Given the description of an element on the screen output the (x, y) to click on. 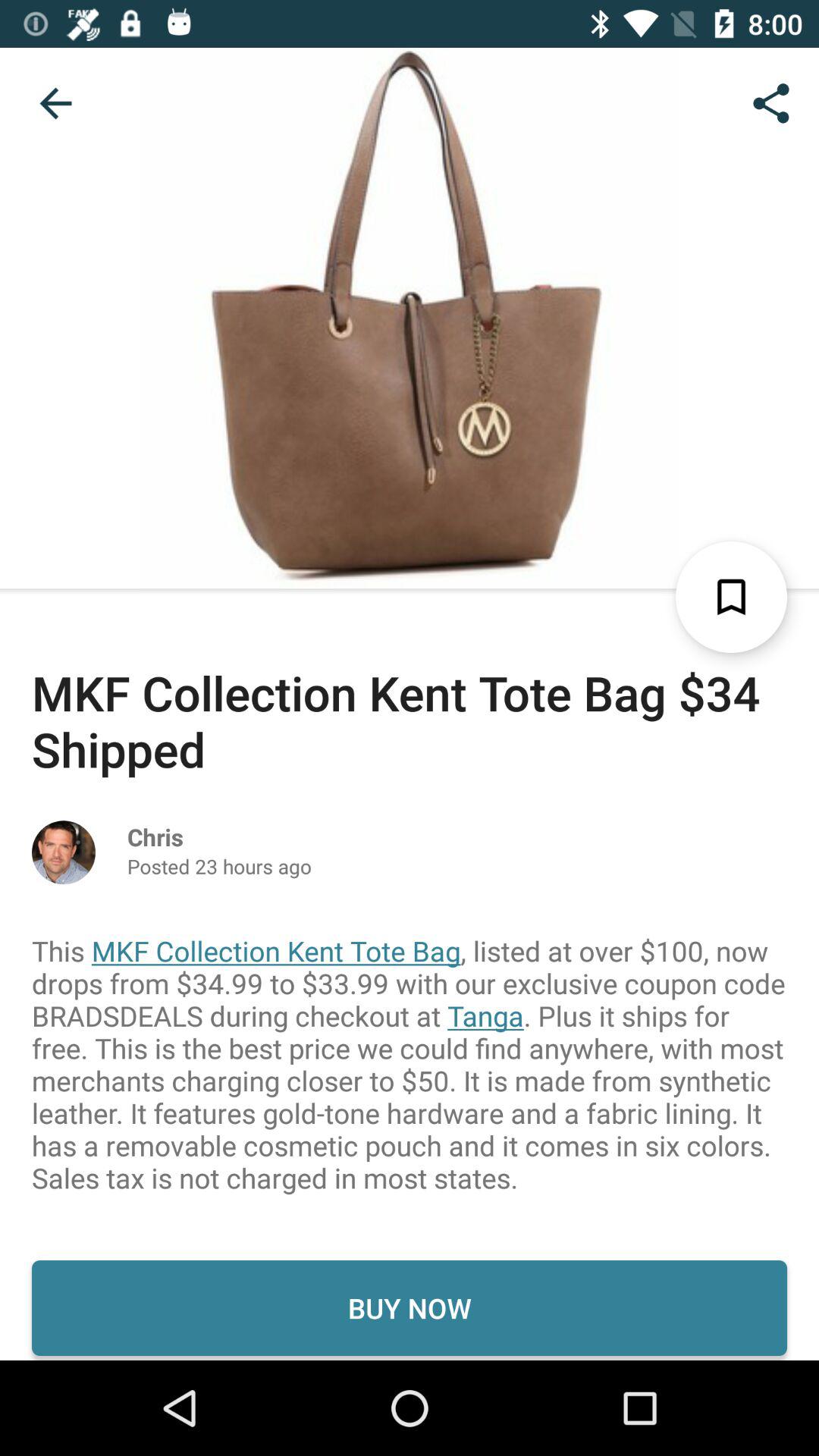
turn on icon at the top left corner (55, 103)
